Given the description of an element on the screen output the (x, y) to click on. 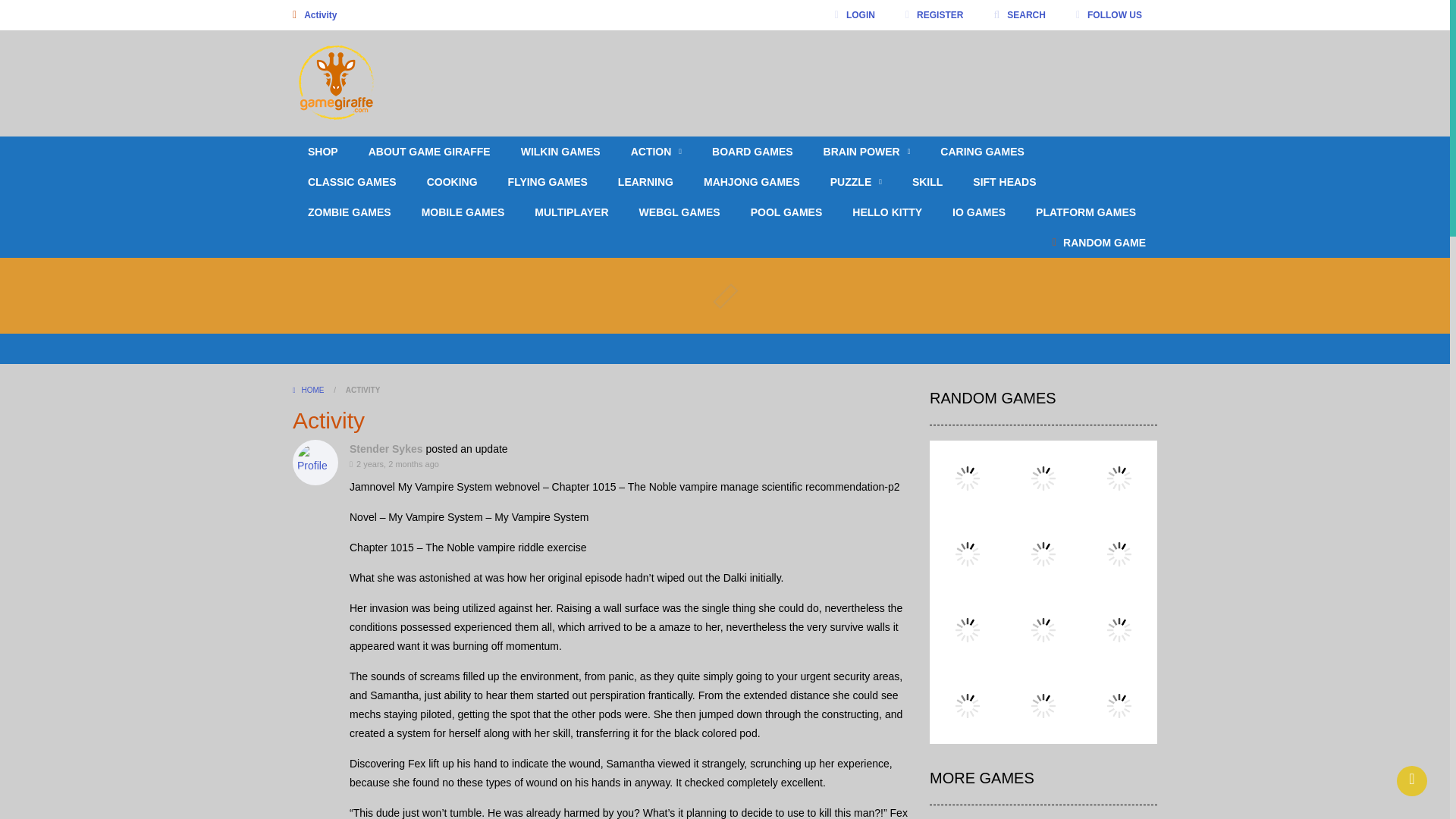
ABOUT GAME GIRAFFE (429, 151)
ACTION (656, 151)
REGISTER (933, 15)
BOARD GAMES (752, 151)
ZOMBIE GAMES (349, 212)
SKILL (927, 182)
CARING GAMES (981, 151)
MAHJONG GAMES (751, 182)
COOKING (452, 182)
WILKIN GAMES (560, 151)
